Given the description of an element on the screen output the (x, y) to click on. 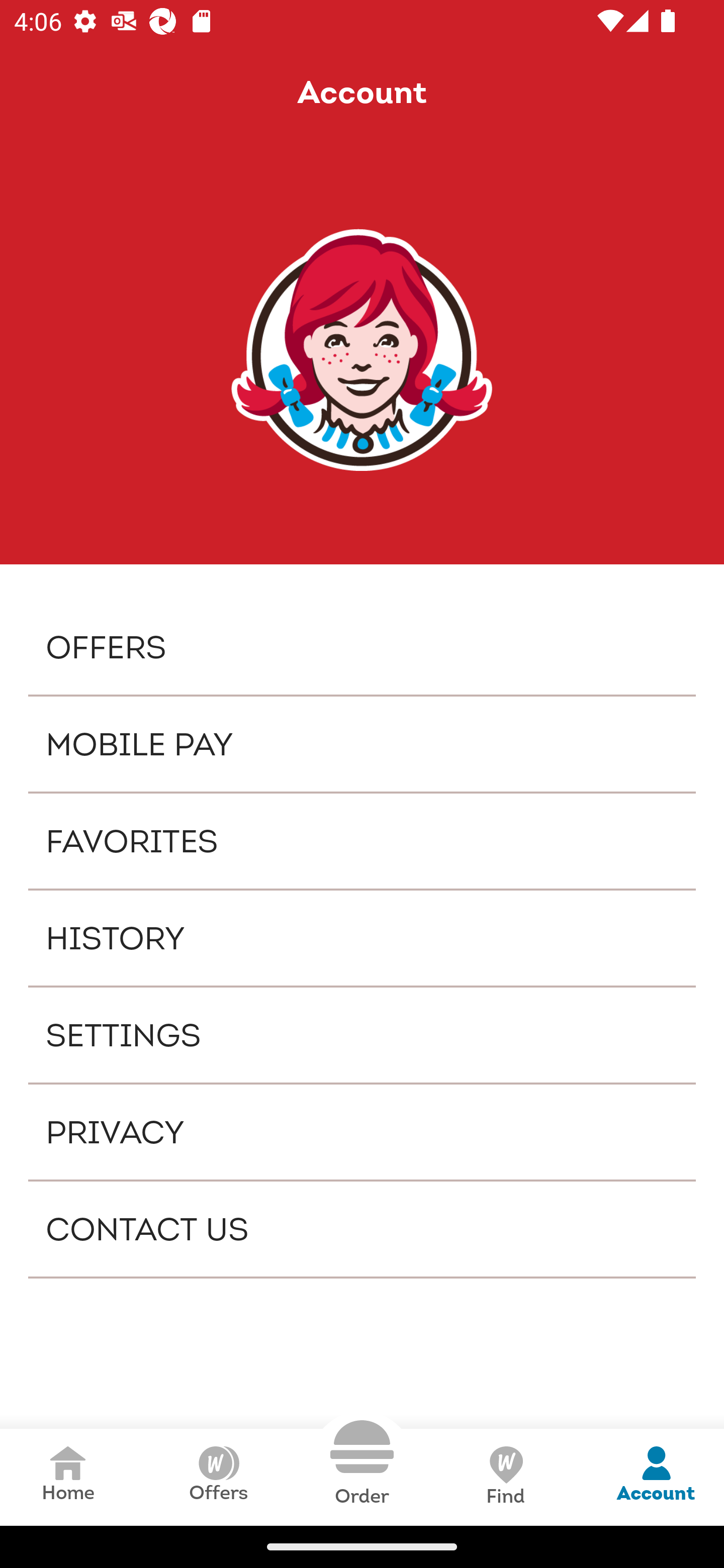
OFFERS Offers,1 of 8 (361, 646)
MOBILE PAY Mobile Pay,2 of 8 (361, 743)
FAVORITES Favorites,3 of 8 (361, 841)
HISTORY History,5 of 8 (361, 938)
SETTINGS Settings,6 of 8 (361, 1034)
PRIVACY Privacy,7 of 8 (361, 1132)
CONTACT US contact us,8 of 8 (361, 1229)
Order,3 of 5 Order (361, 1463)
Home,1 of 5 Home (68, 1476)
Rewards,2 of 5 Offers Offers (218, 1476)
Scan,4 of 5 Find Find (505, 1476)
Account,5 of 5 Account (655, 1476)
